Given the description of an element on the screen output the (x, y) to click on. 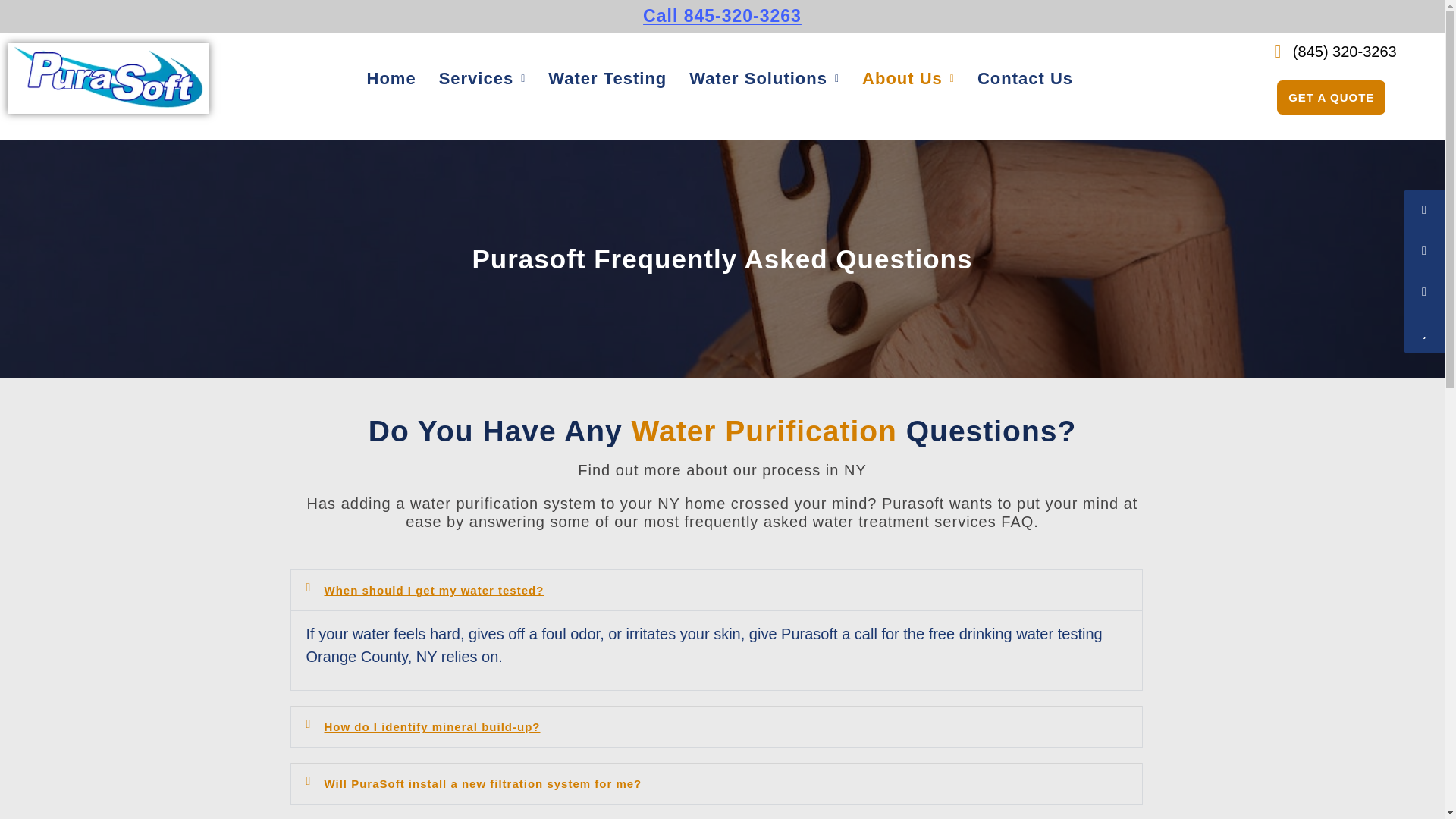
When should I get my water tested? (434, 590)
Water Solutions (764, 78)
GET A QUOTE (1331, 97)
How do I identify mineral build-up? (432, 726)
About Us (908, 78)
Contact Us (1025, 78)
Home (390, 78)
Water Testing (607, 78)
Services (482, 78)
Call 845-320-3263 (722, 15)
Will PuraSoft install a new filtration system for me? (483, 783)
